Given the description of an element on the screen output the (x, y) to click on. 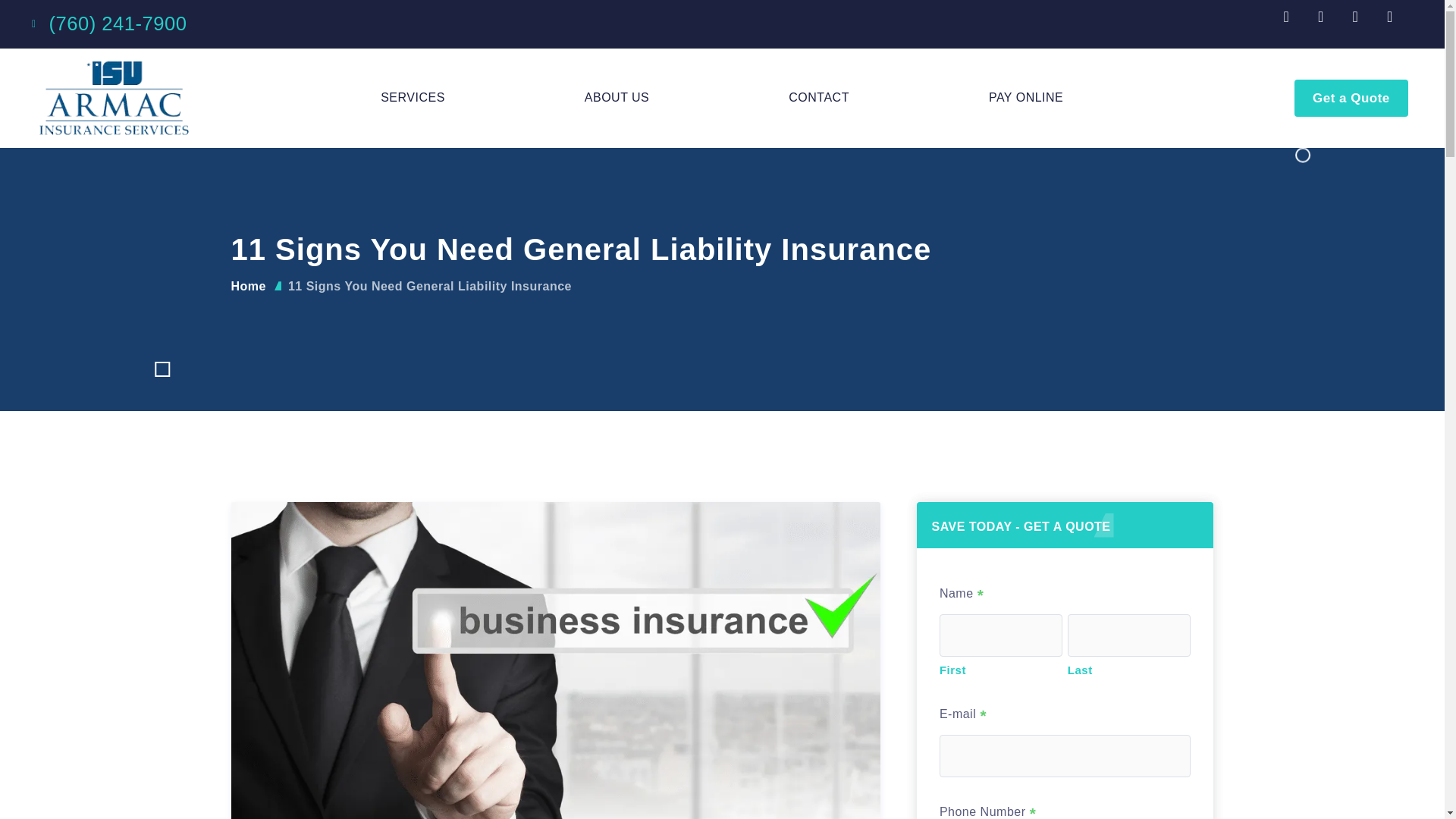
PAY ONLINE (1025, 97)
ABOUT US (617, 97)
Call Us! (117, 23)
CONTACT (818, 97)
SERVICES (413, 97)
Get a Quote (1350, 98)
Home (247, 286)
